Given the description of an element on the screen output the (x, y) to click on. 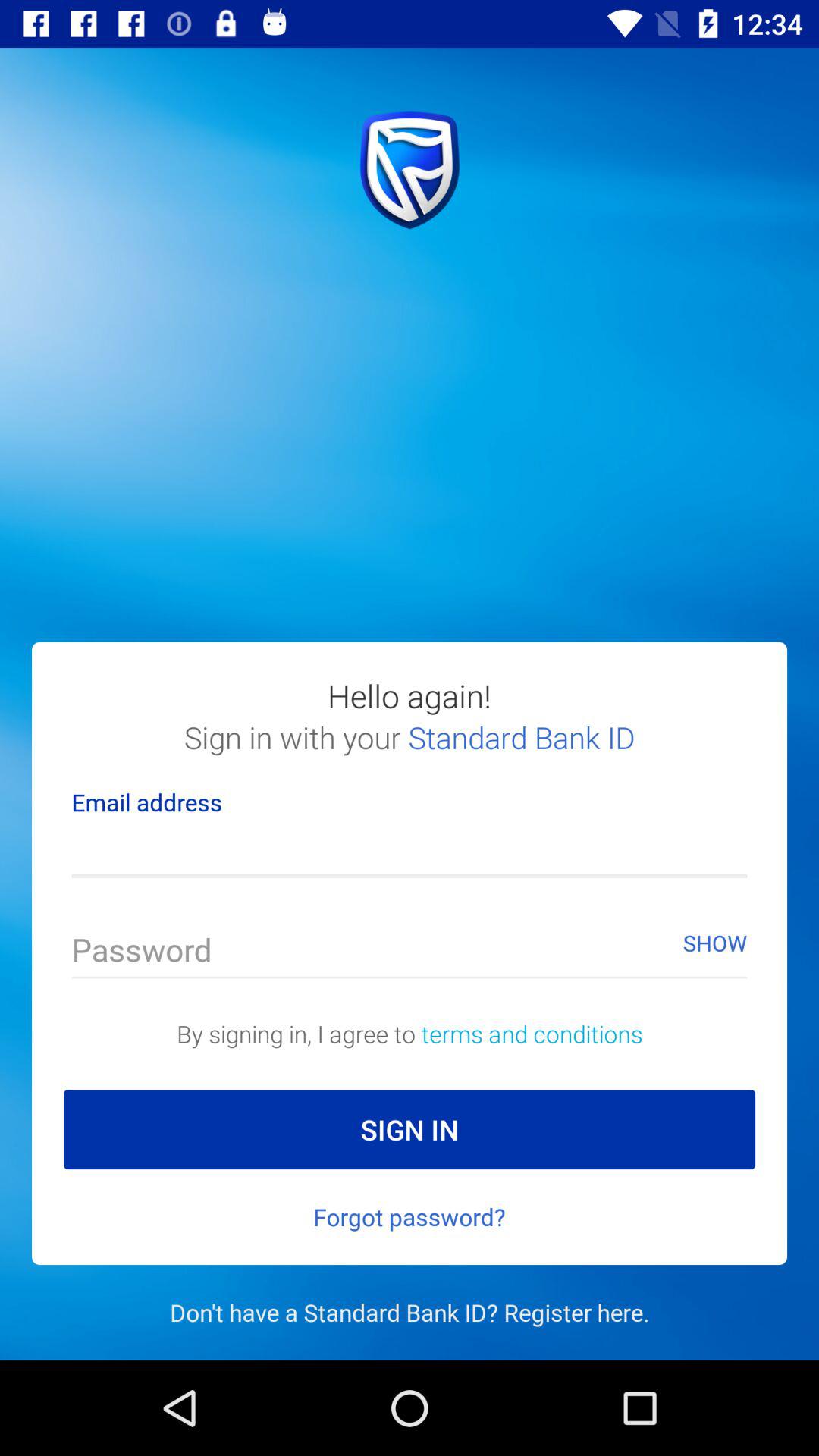
enter password (409, 953)
